Given the description of an element on the screen output the (x, y) to click on. 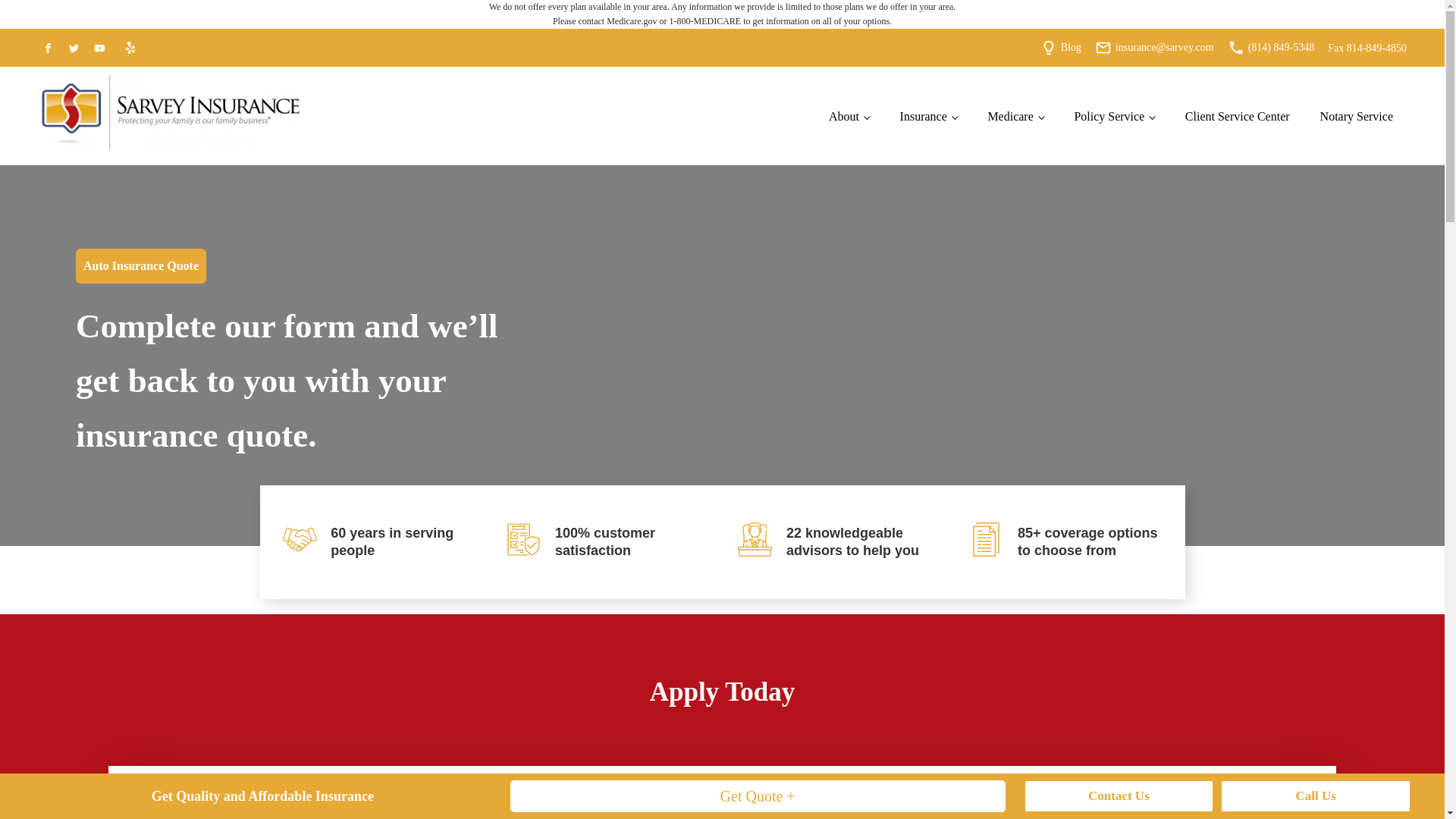
Fax 814-849-4850 (1366, 48)
Blog (1071, 47)
About (849, 116)
Insurance (928, 116)
